Given the description of an element on the screen output the (x, y) to click on. 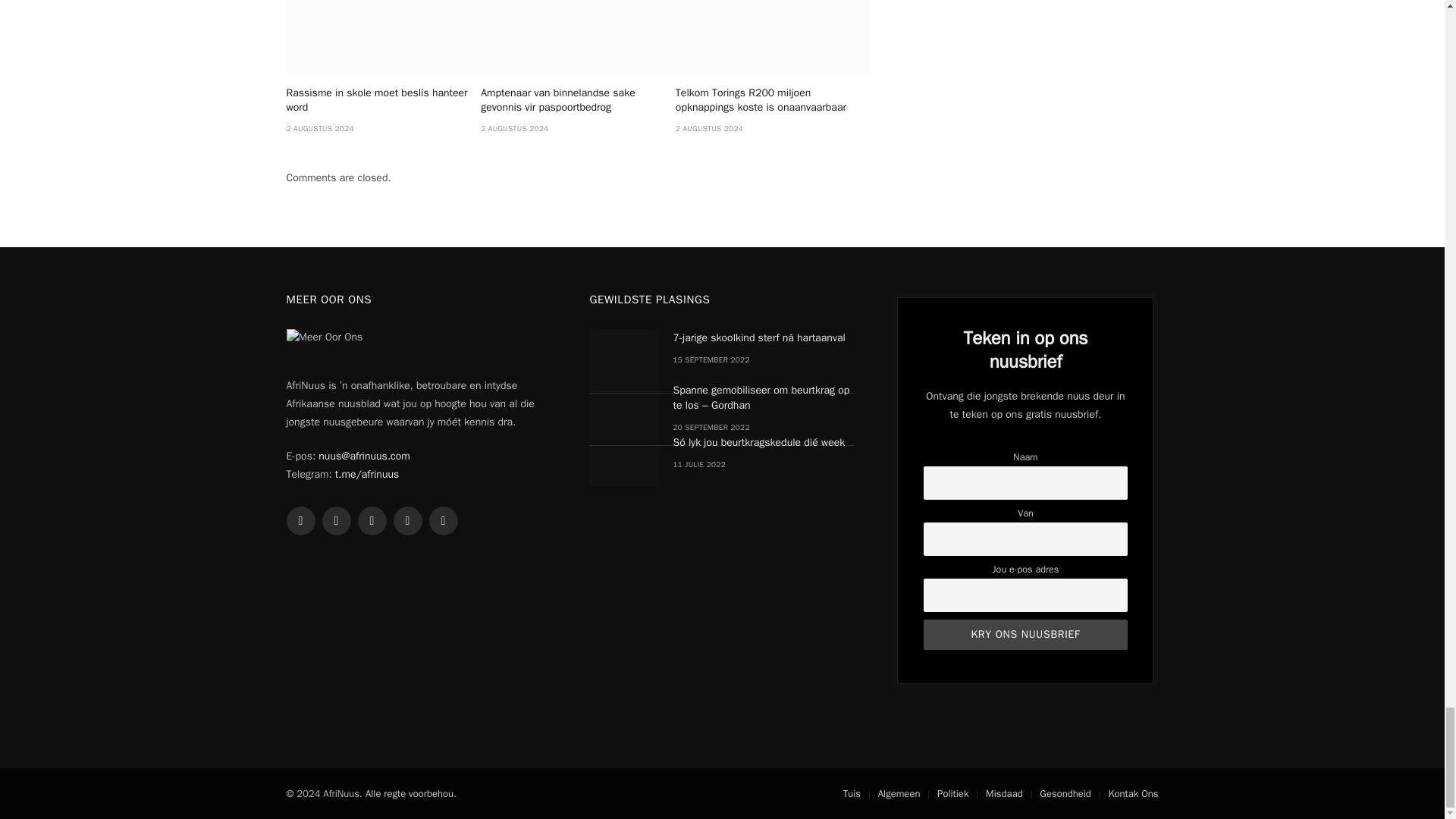
Kry Ons Nuusbrief (1024, 634)
